Given the description of an element on the screen output the (x, y) to click on. 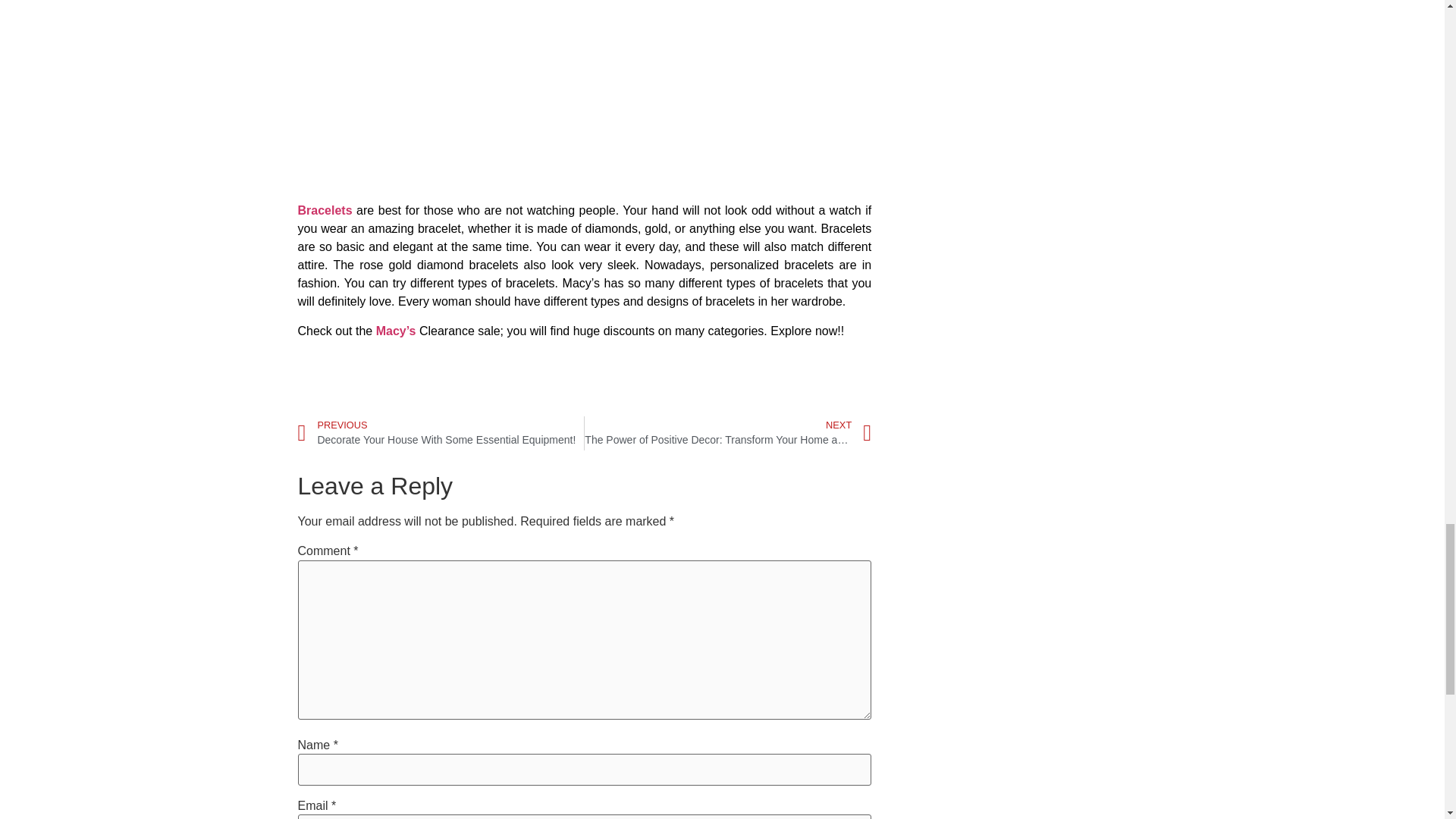
Bracelets (326, 210)
Explore Must-Have Jewelry Collection for every girl Now 4 (440, 433)
